Given the description of an element on the screen output the (x, y) to click on. 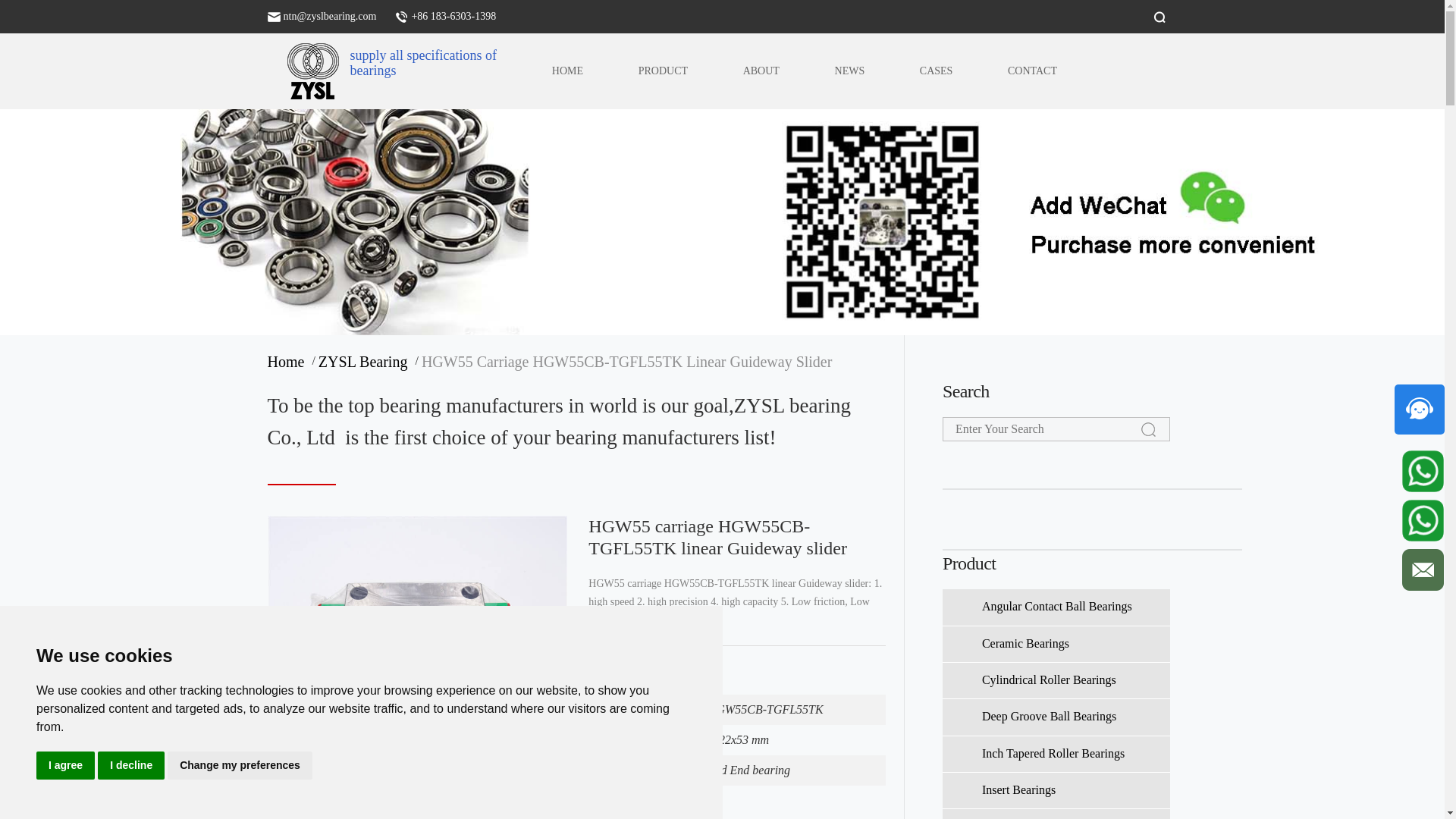
ZYSL Bearing   (366, 361)
tel (453, 16)
Home   (288, 361)
CONTACT (1031, 70)
I decline (130, 765)
PRODUCT (663, 70)
I agree (65, 765)
email (330, 16)
Whatsapp (1423, 471)
Change my preferences (240, 765)
HGW55 carriage HGW55CB-TGFL55TK linear Guideway slider (306, 70)
HGW55 Carriage HGW55CB-TGFL55TK Linear Guideway Slider (627, 361)
Cookies (34, 756)
